Given the description of an element on the screen output the (x, y) to click on. 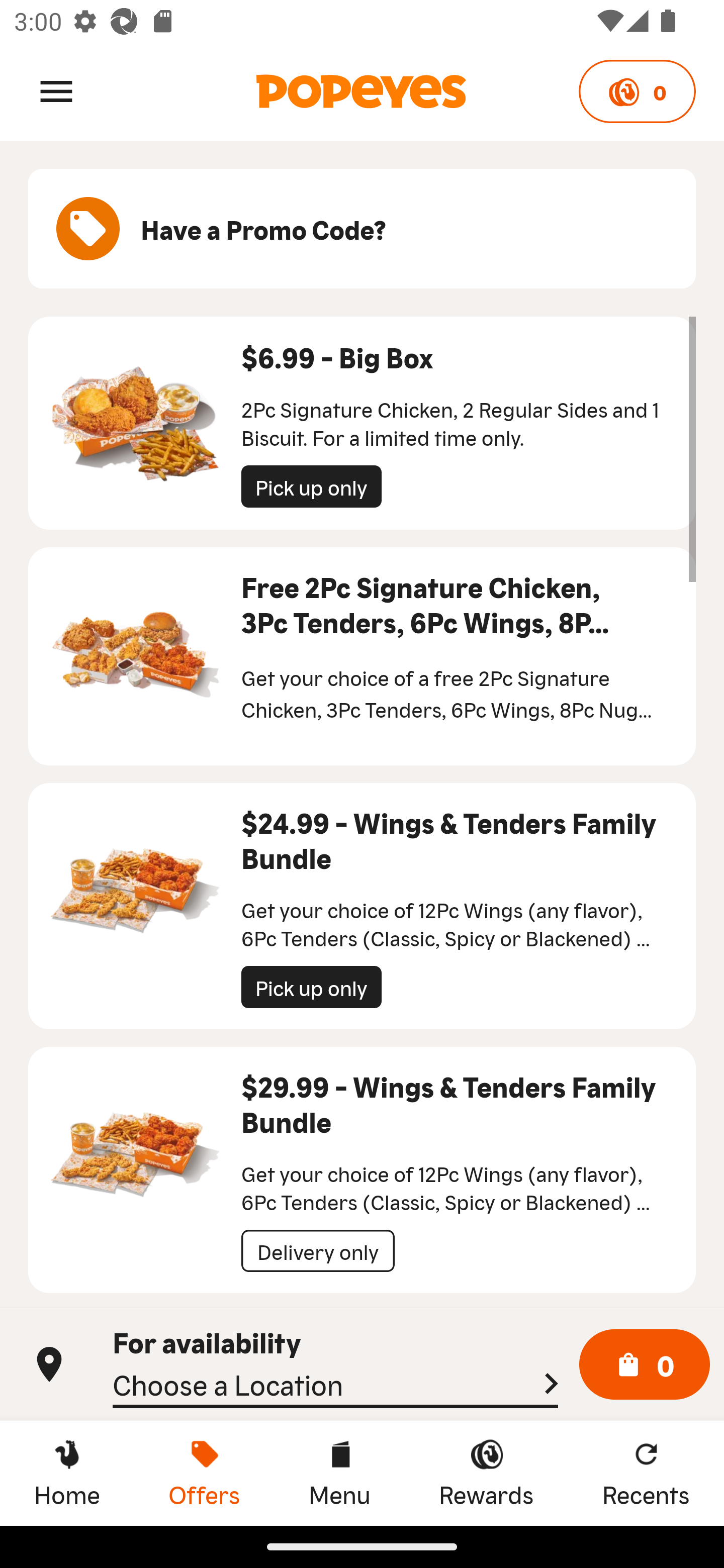
Menu  (56, 90)
0 Points 0 (636, 91)
Have a Promo Code?  Have a Promo Code? (361, 228)
0 Cart total  0 (644, 1364)
Home Home Home (66, 1472)
Offers, current page Offers Offers, current page (203, 1472)
Menu Menu Menu (339, 1472)
Rewards Rewards Rewards (486, 1472)
Recents Recents Recents (646, 1472)
